Given the description of an element on the screen output the (x, y) to click on. 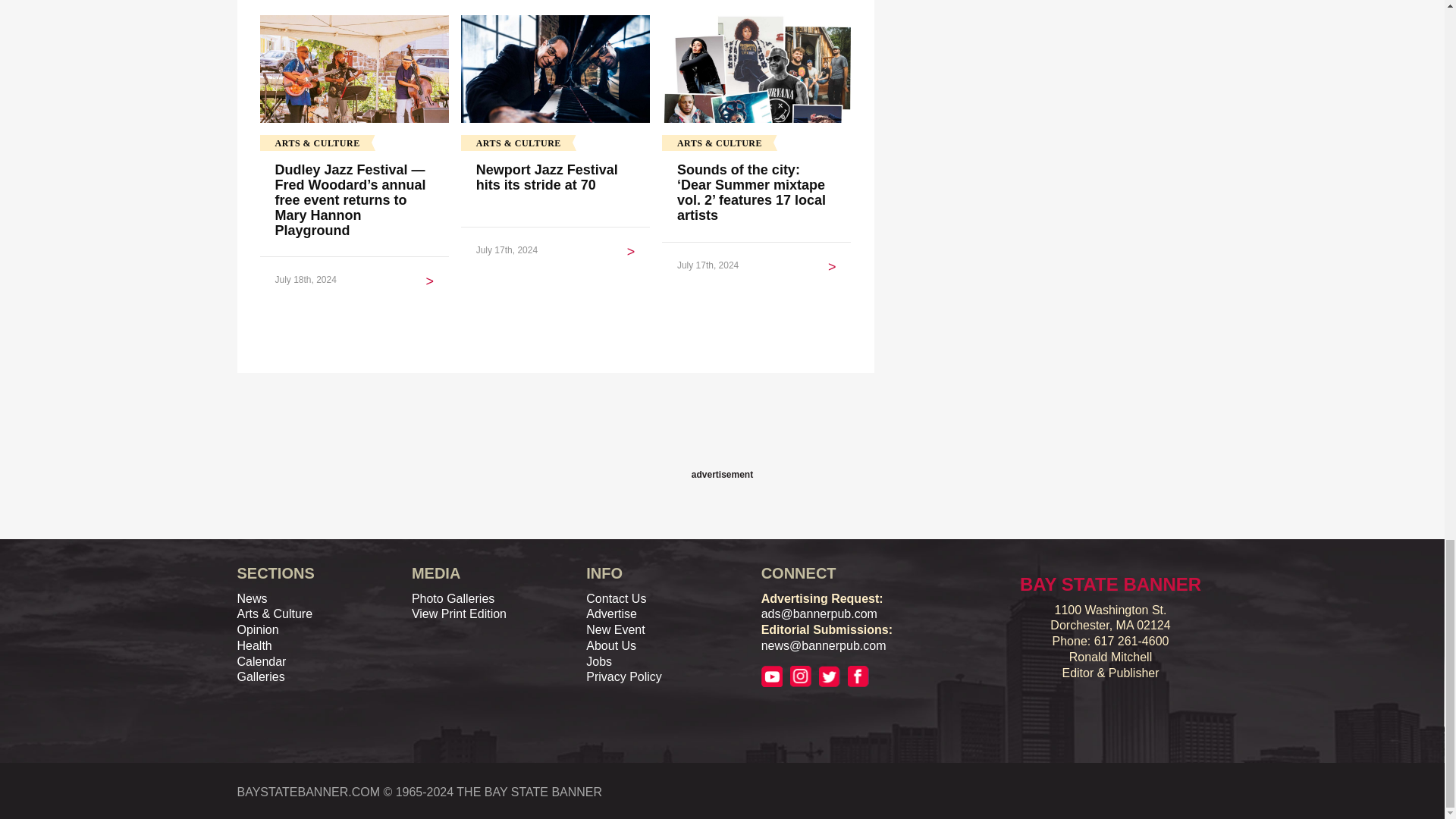
3rd party ad content (721, 431)
